Given the description of an element on the screen output the (x, y) to click on. 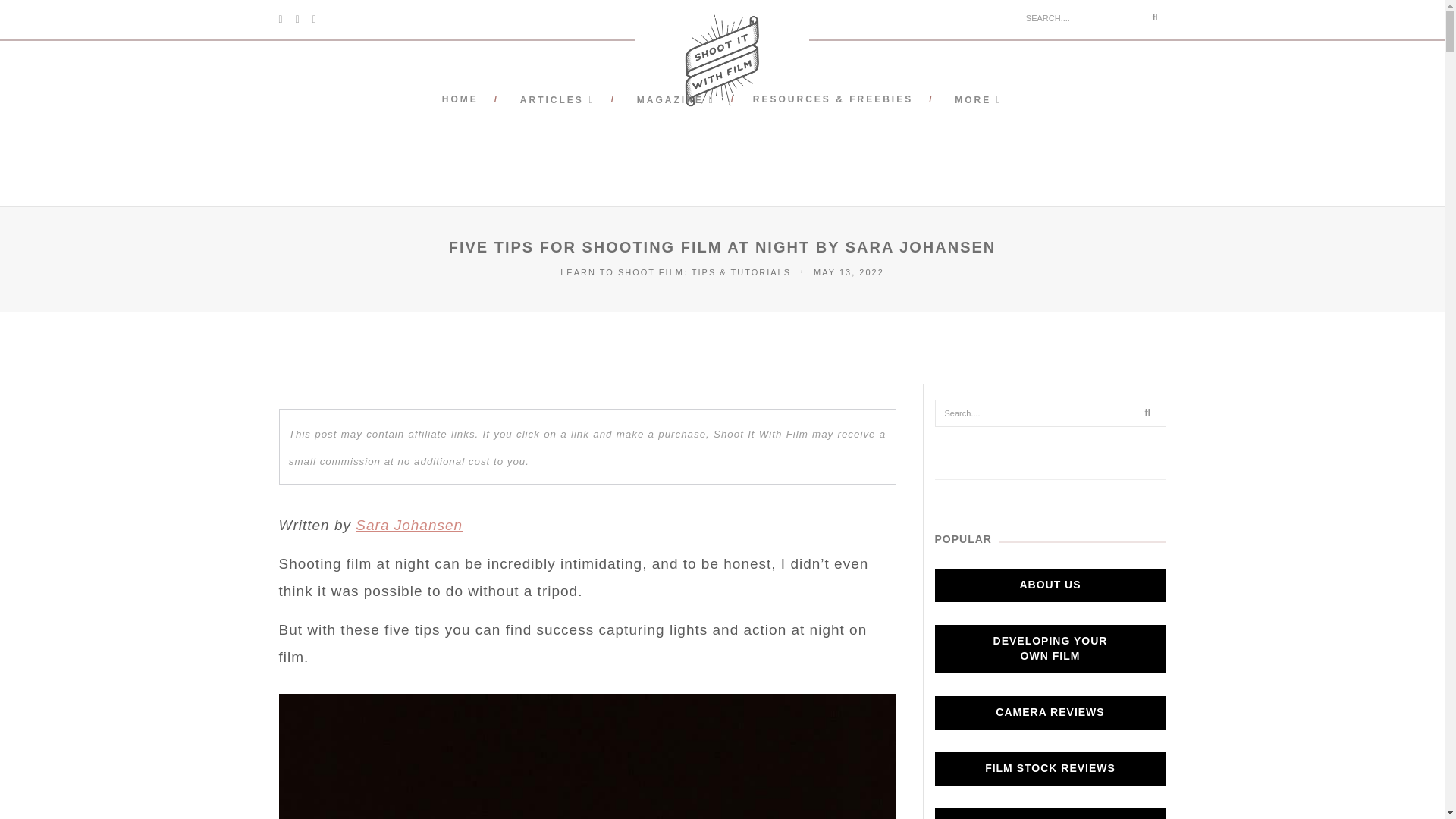
ARTICLES (555, 99)
MORE (976, 99)
MAGAZINE (673, 99)
HOME (460, 99)
Sara Johansen (409, 524)
